Given the description of an element on the screen output the (x, y) to click on. 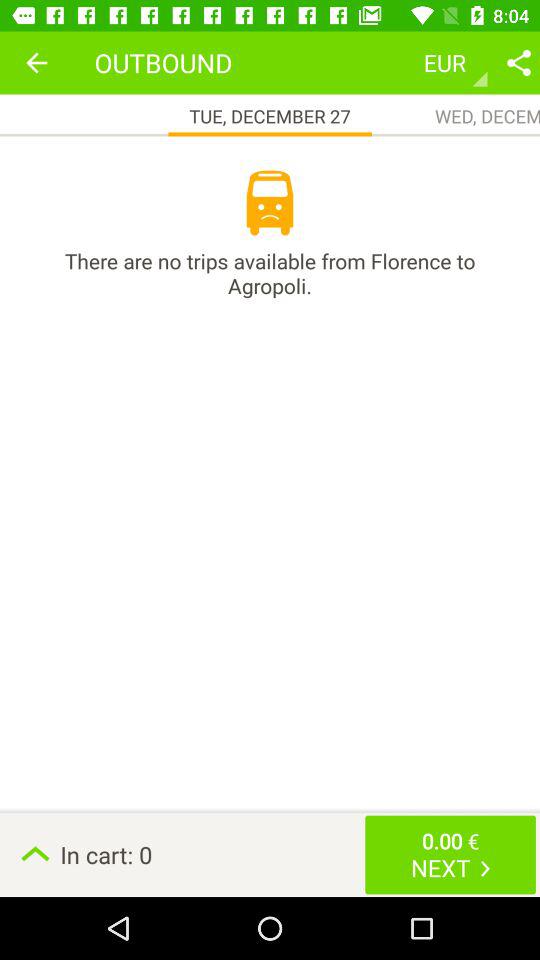
share with others (519, 62)
